Given the description of an element on the screen output the (x, y) to click on. 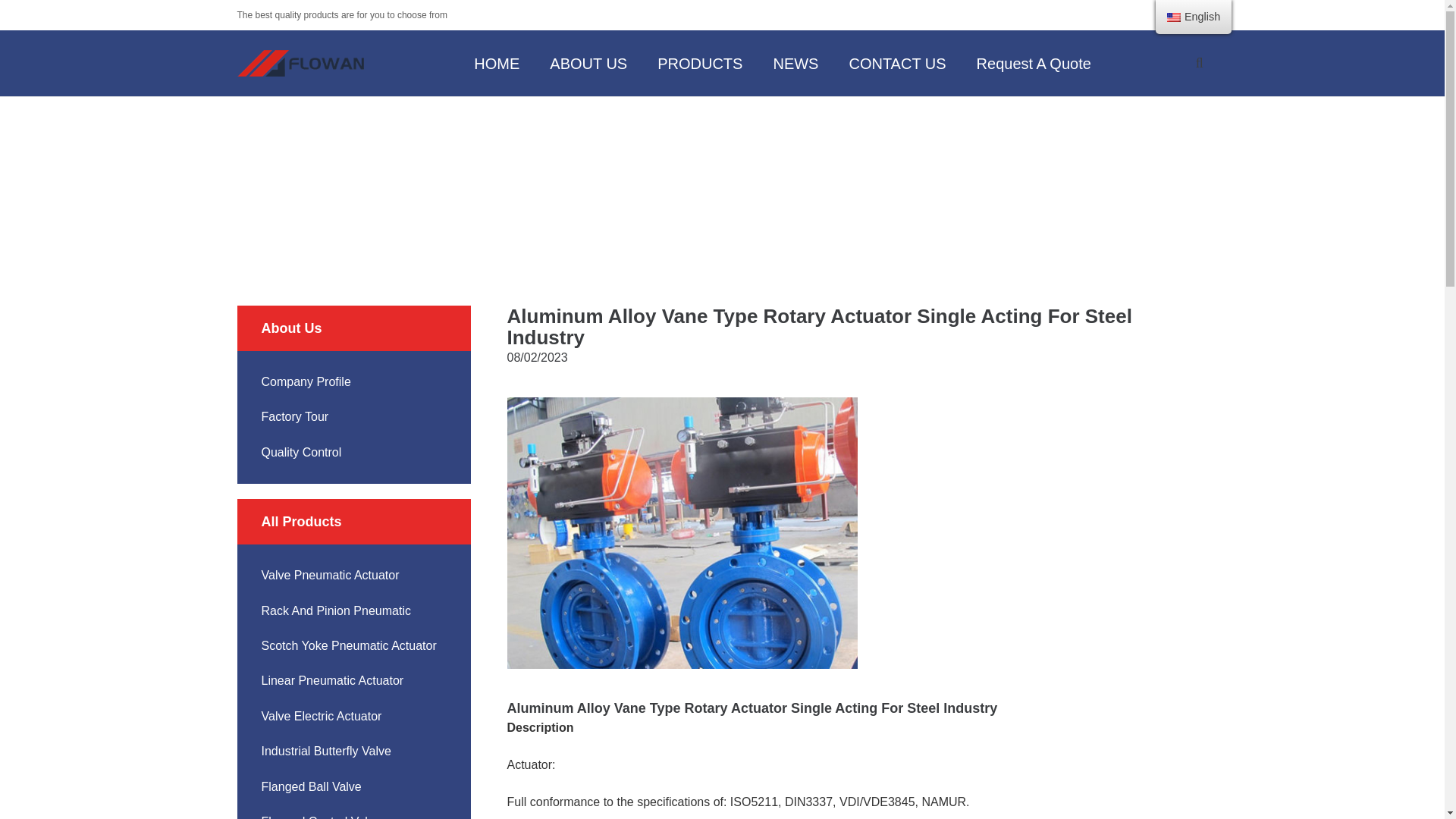
Scotch Yoke Pneumatic Actuator (347, 645)
PRODUCTS (699, 62)
Request A Quote (1033, 62)
CONTACT US (896, 62)
HOME (516, 190)
ABOUT US (588, 62)
News (721, 157)
English (1173, 17)
Quality Control (300, 451)
Company Profile (305, 381)
